Given the description of an element on the screen output the (x, y) to click on. 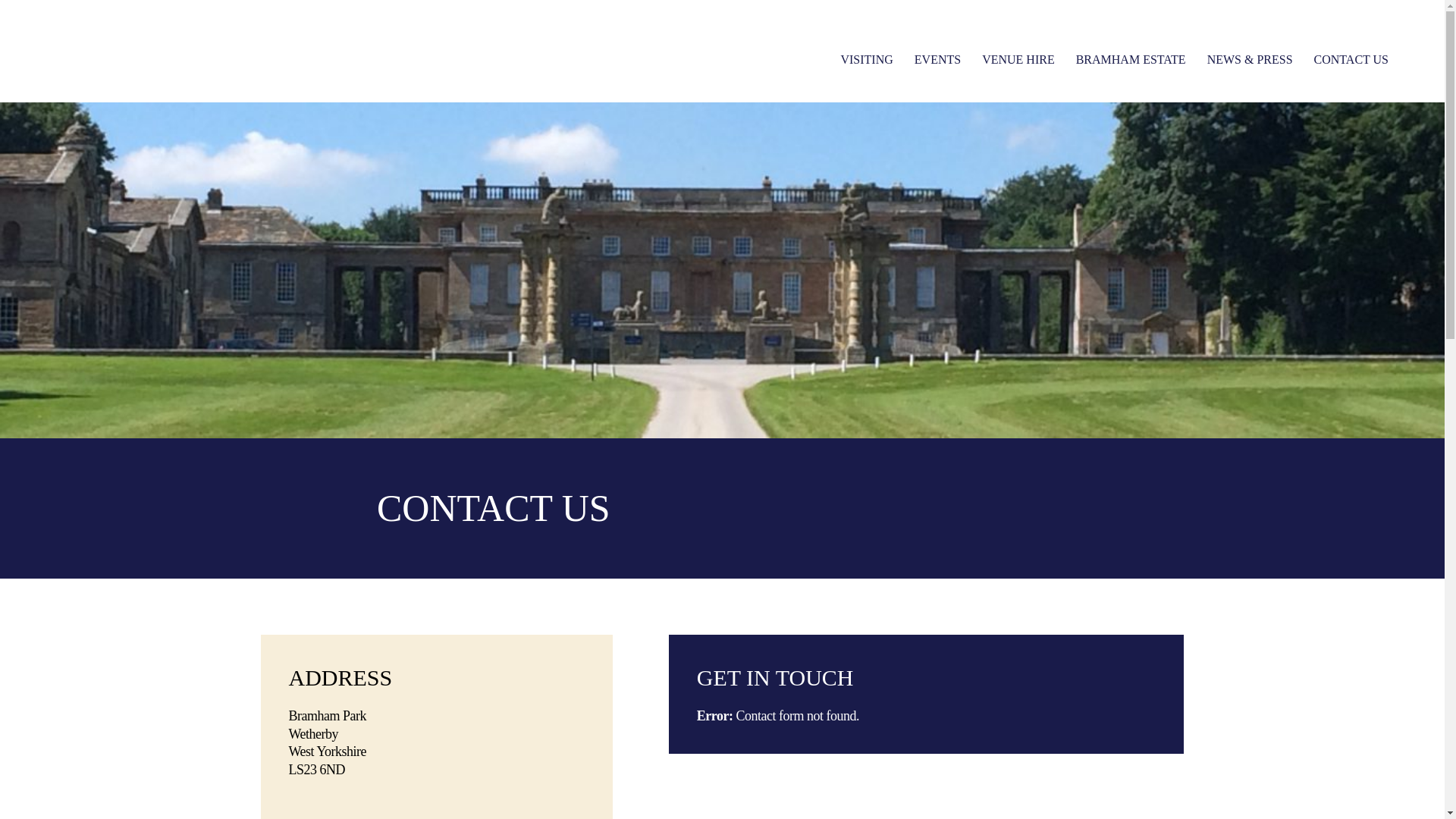
EVENTS (937, 59)
BRAMHAM ESTATE (1130, 59)
VENUE HIRE (1018, 59)
CONTACT US (1346, 59)
VISITING (871, 59)
